Given the description of an element on the screen output the (x, y) to click on. 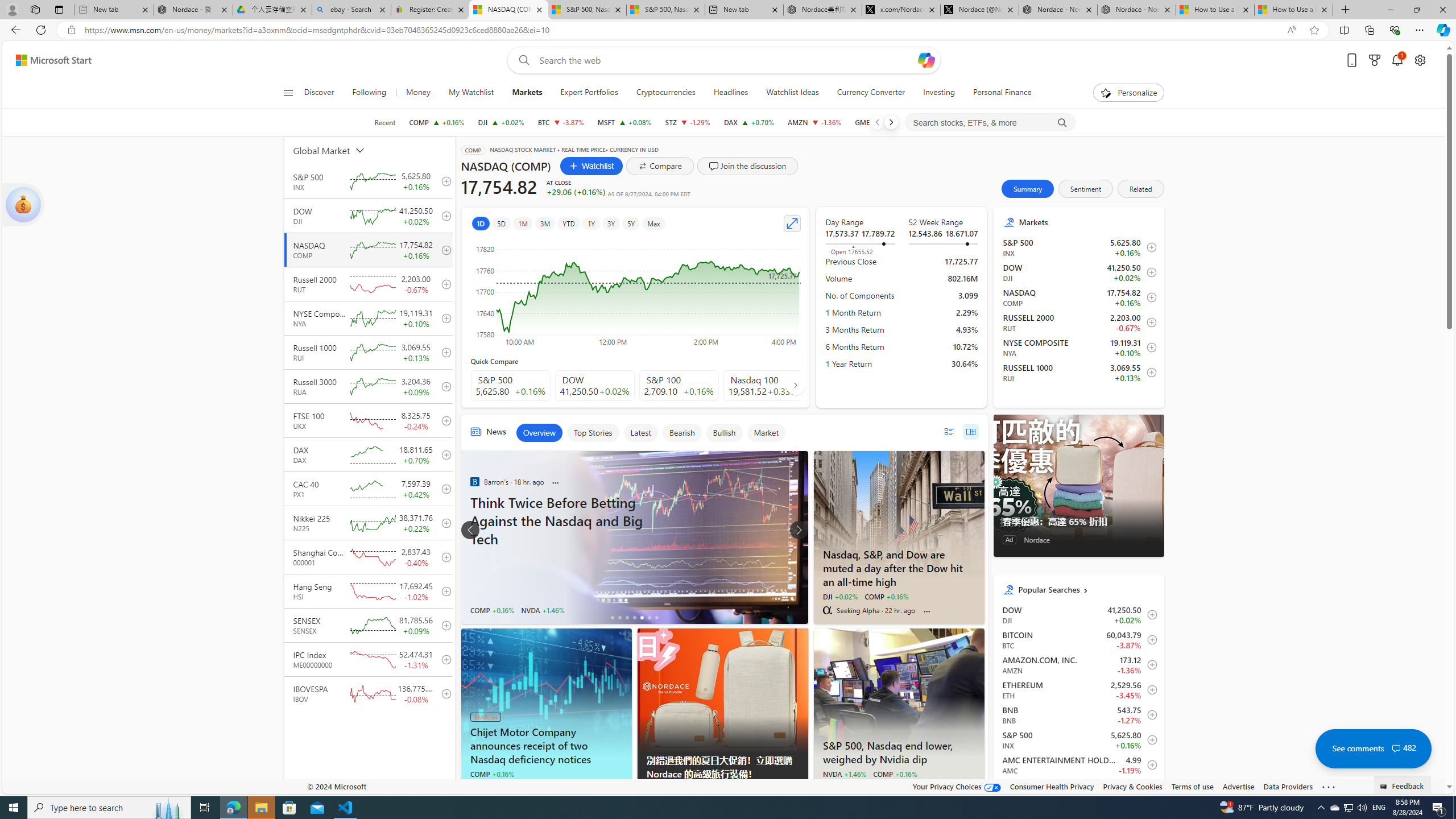
Terms of use (1192, 785)
Personal Finance (997, 92)
Recent (385, 121)
Money (417, 92)
